Given the description of an element on the screen output the (x, y) to click on. 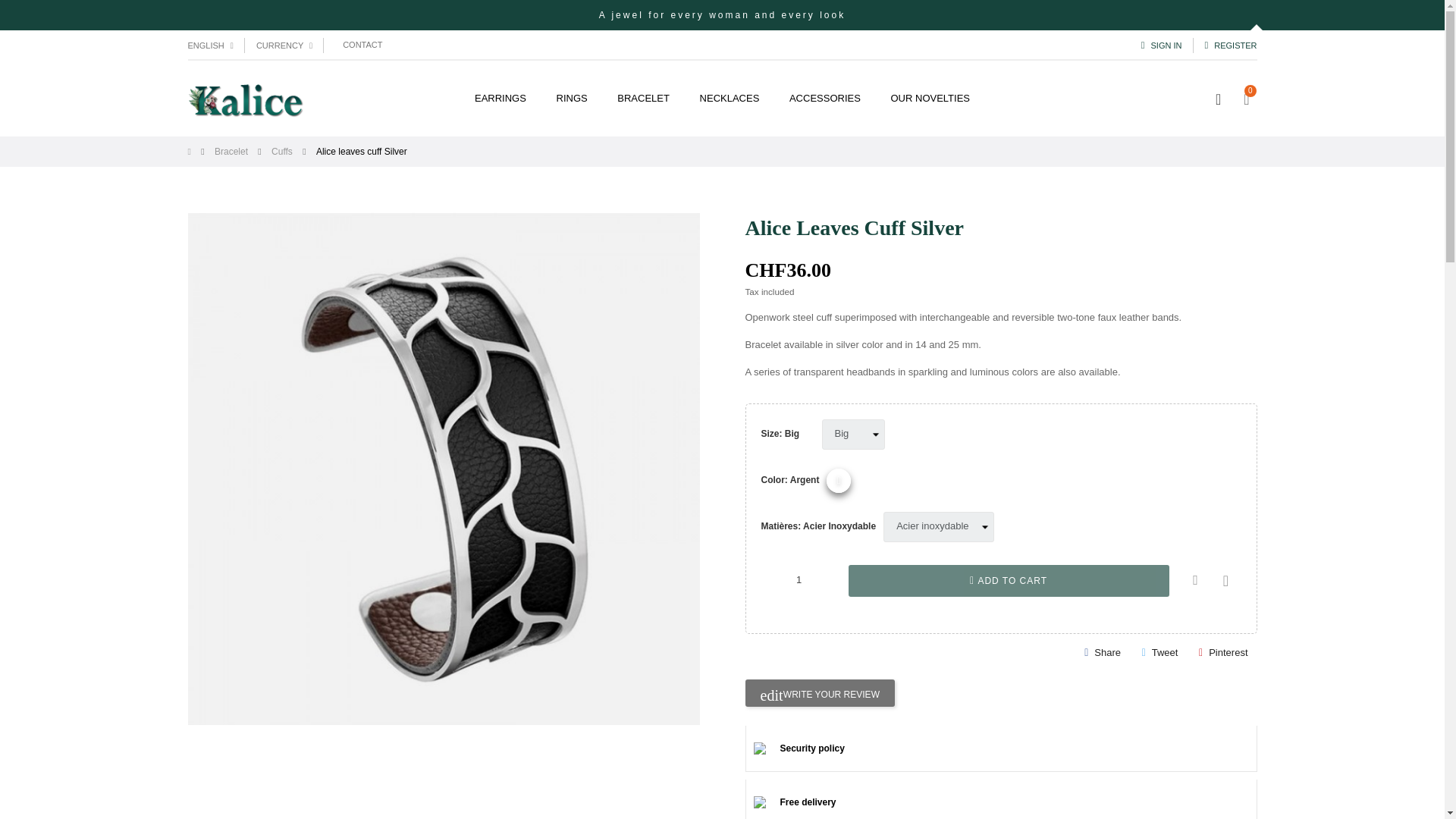
BRACELET (643, 98)
CONTACT (362, 45)
Currency (284, 45)
ENGLISH (209, 45)
REGISTER (1230, 45)
SIGN IN (1161, 45)
Language (209, 45)
EARRINGS (500, 98)
Log in to your customer account (1161, 45)
CURRENCY (284, 45)
